Given the description of an element on the screen output the (x, y) to click on. 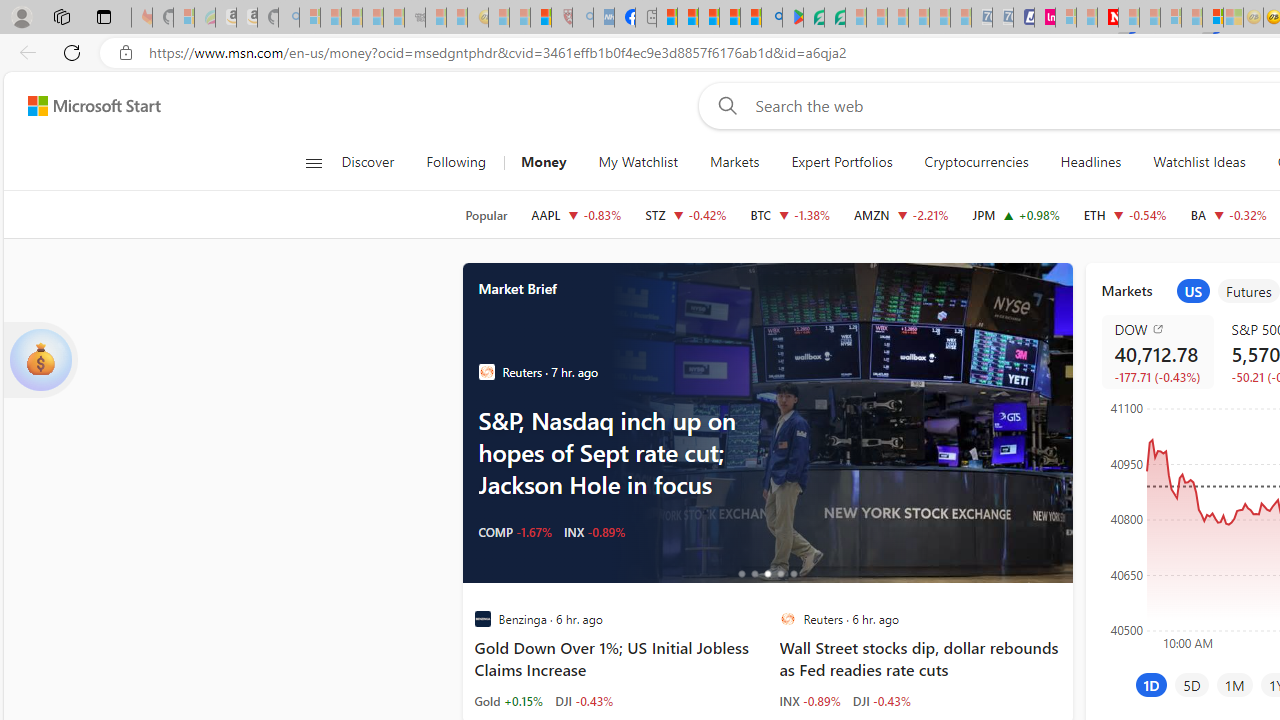
INX -0.89% (809, 700)
Jobs - lastminute.com Investor Portal (1044, 17)
My Watchlist (637, 162)
DJI -0.43% (881, 700)
Combat Siege (414, 17)
BA THE BOEING COMPANY decrease 172.87 -0.56 -0.32% (1227, 214)
